Given the description of an element on the screen output the (x, y) to click on. 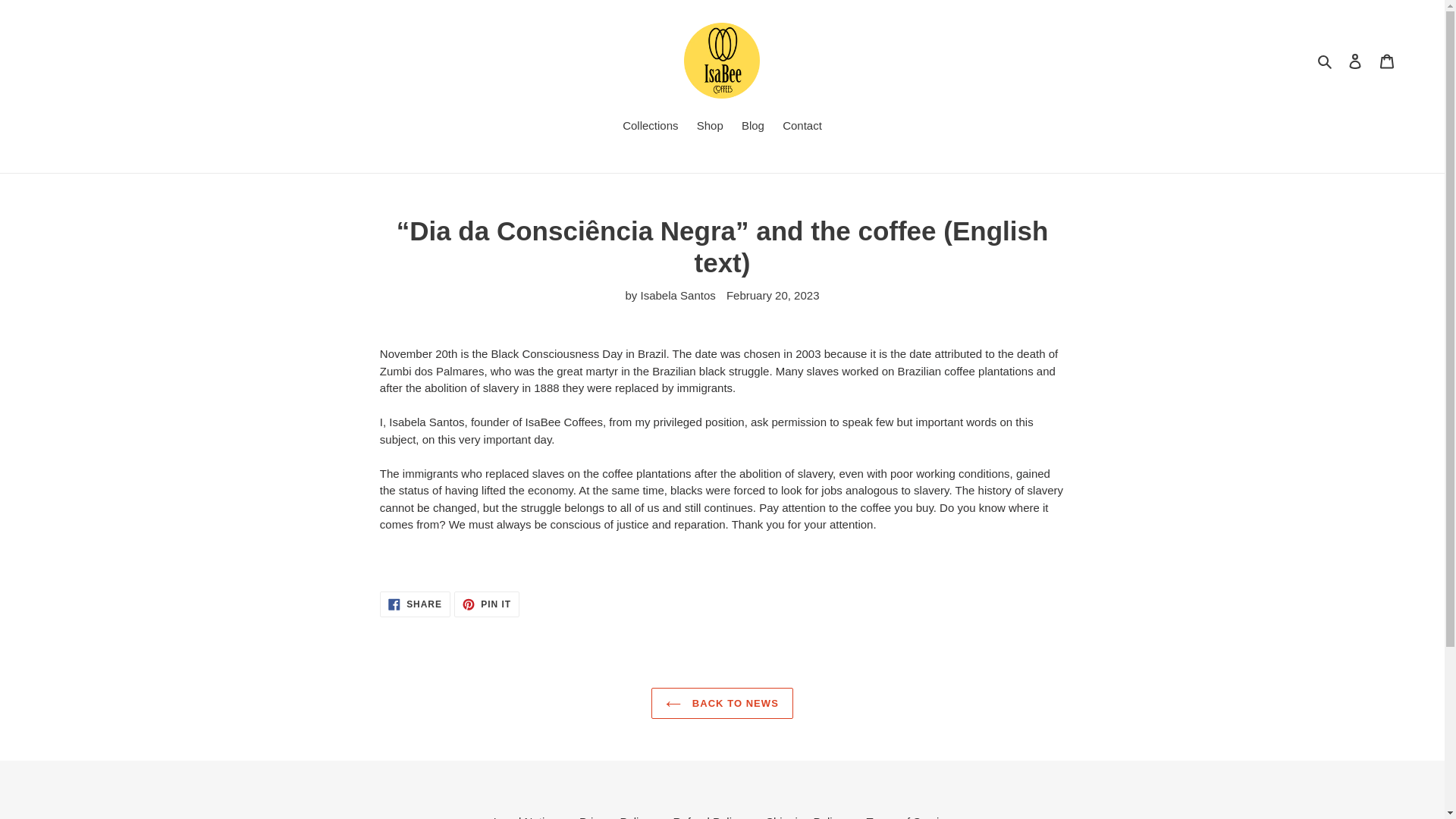
Contact (801, 127)
Blog (752, 127)
Terms of Service (909, 816)
Log in (1355, 60)
Search (1326, 60)
Refund Policy (486, 604)
Collections (707, 816)
Legal Notice (414, 604)
Shop (649, 127)
Cart (524, 816)
BACK TO NEWS (709, 127)
Shipping Policy (1387, 60)
Privacy Policy (721, 703)
